Given the description of an element on the screen output the (x, y) to click on. 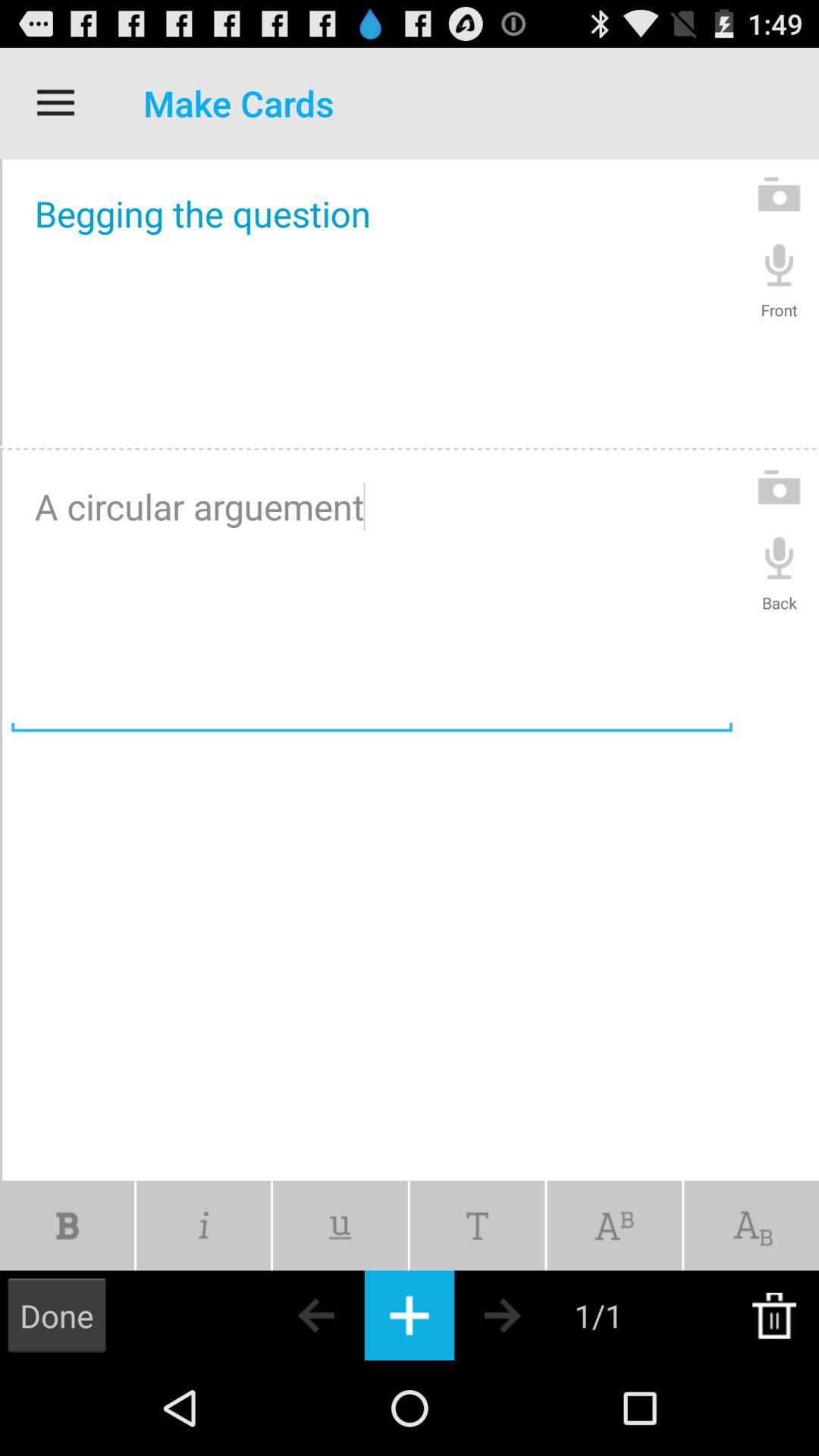
turn on icon below a circular arguement (203, 1225)
